Given the description of an element on the screen output the (x, y) to click on. 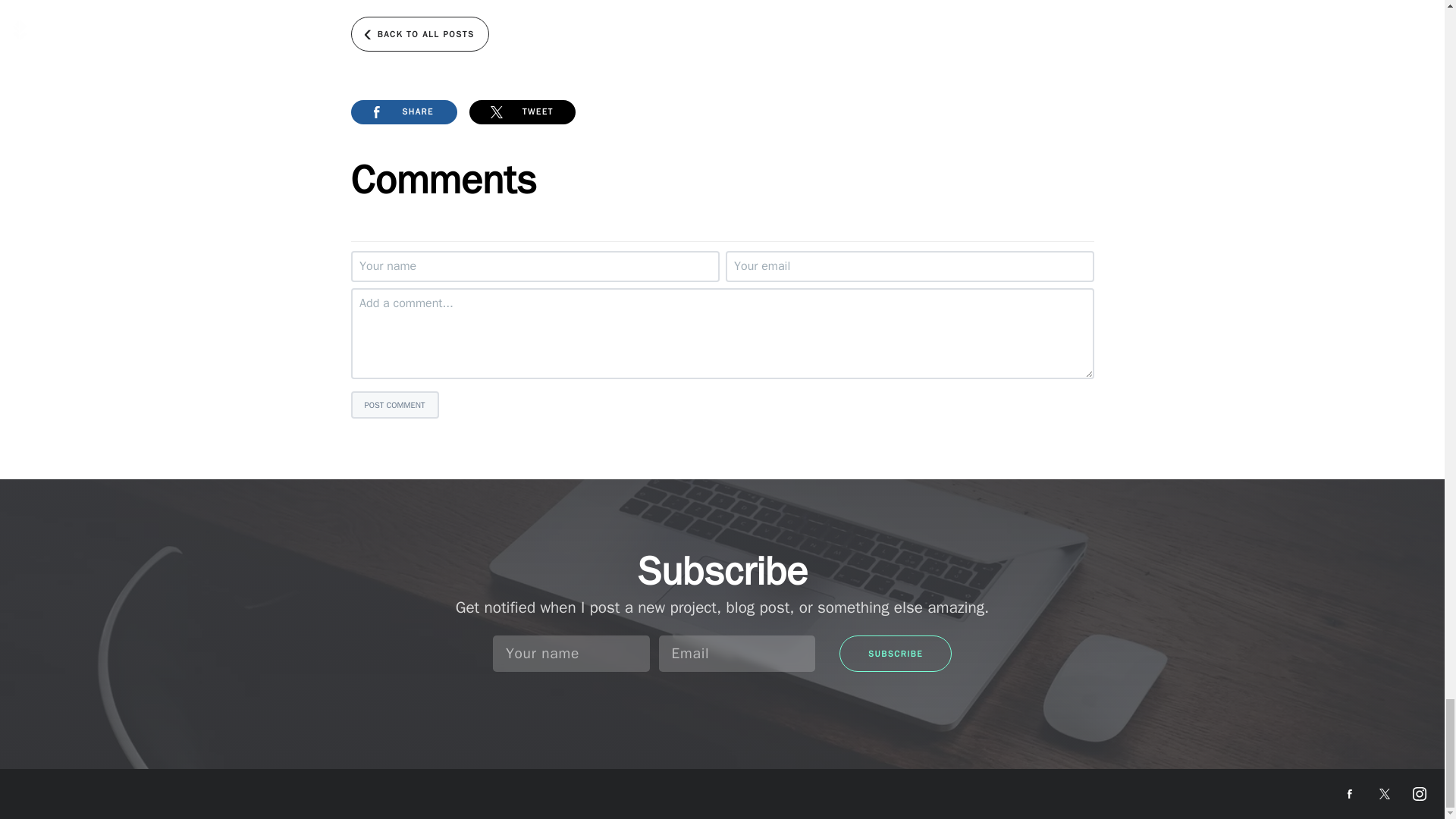
Subscribe (896, 653)
Seth Burnett (68, 790)
TWEET (521, 111)
BACK TO ALL POSTS (418, 33)
SHARE (403, 111)
Twitter (1384, 793)
Subscribe (896, 653)
POST COMMENT (394, 405)
Facebook (1349, 793)
Instagram (1419, 793)
